Given the description of an element on the screen output the (x, y) to click on. 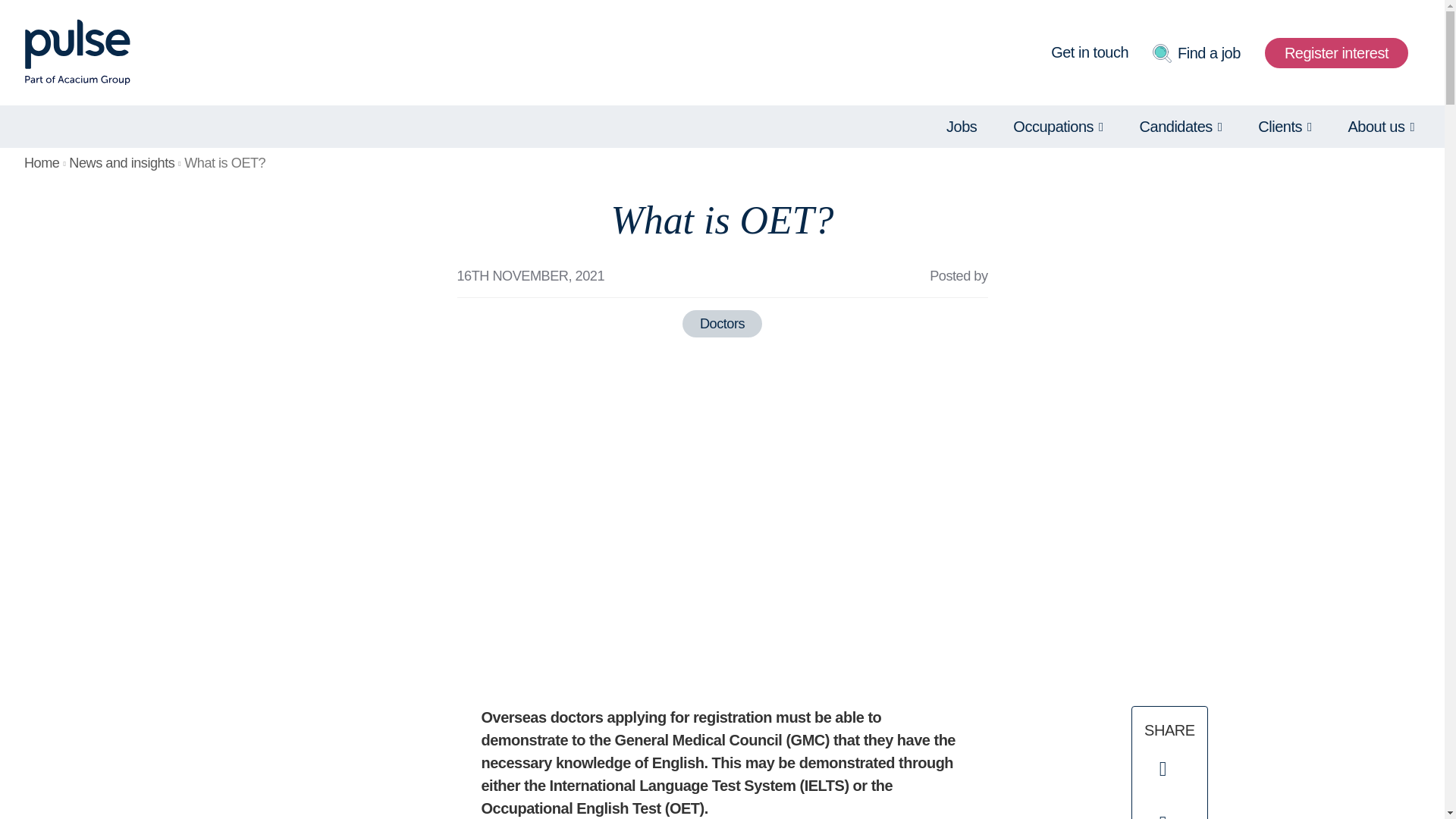
Occupations (1057, 125)
Submit (1336, 51)
Pulse Jobs (77, 52)
Get in touch (1089, 52)
Jobs (961, 125)
Register interest (1336, 52)
